Given the description of an element on the screen output the (x, y) to click on. 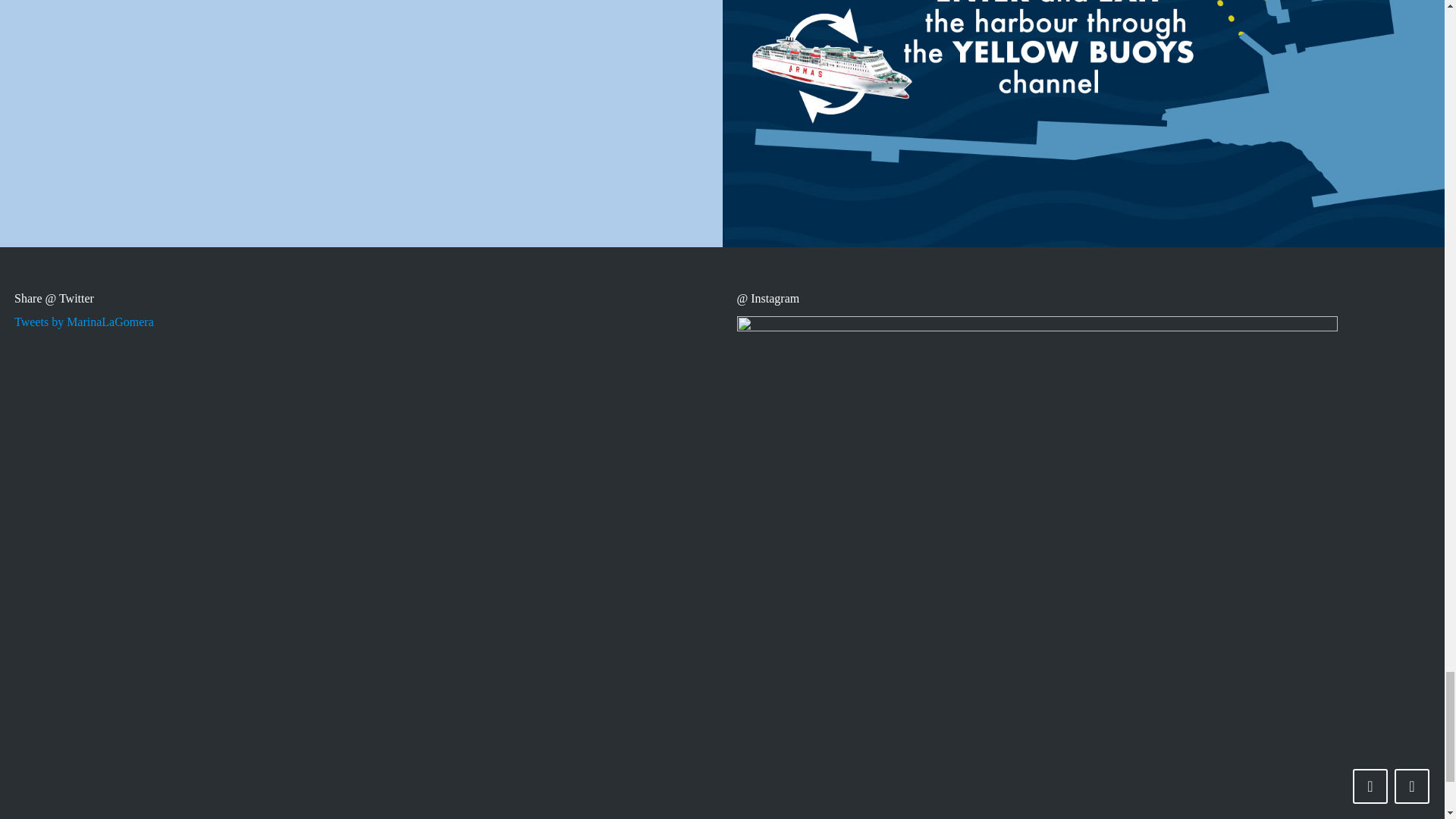
Tweets by MarinaLaGomera (84, 321)
